Given the description of an element on the screen output the (x, y) to click on. 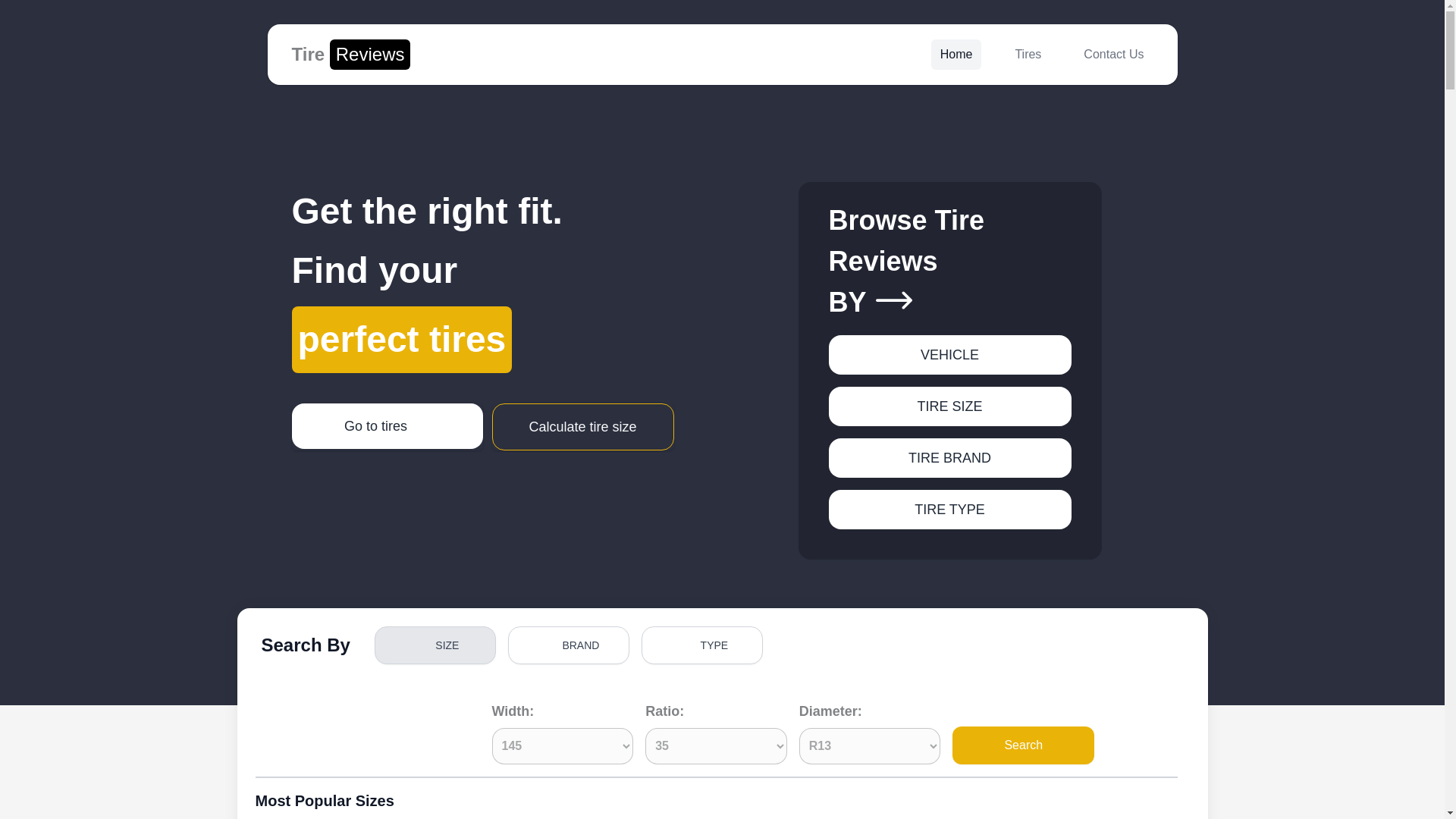
TYPE (702, 645)
Calculate tire size (582, 426)
Search (1023, 745)
BRAND (350, 54)
Contact Us (568, 645)
TIRE BRAND (1113, 54)
VEHICLE (949, 457)
Go to tires (949, 354)
Tires (386, 425)
